Given the description of an element on the screen output the (x, y) to click on. 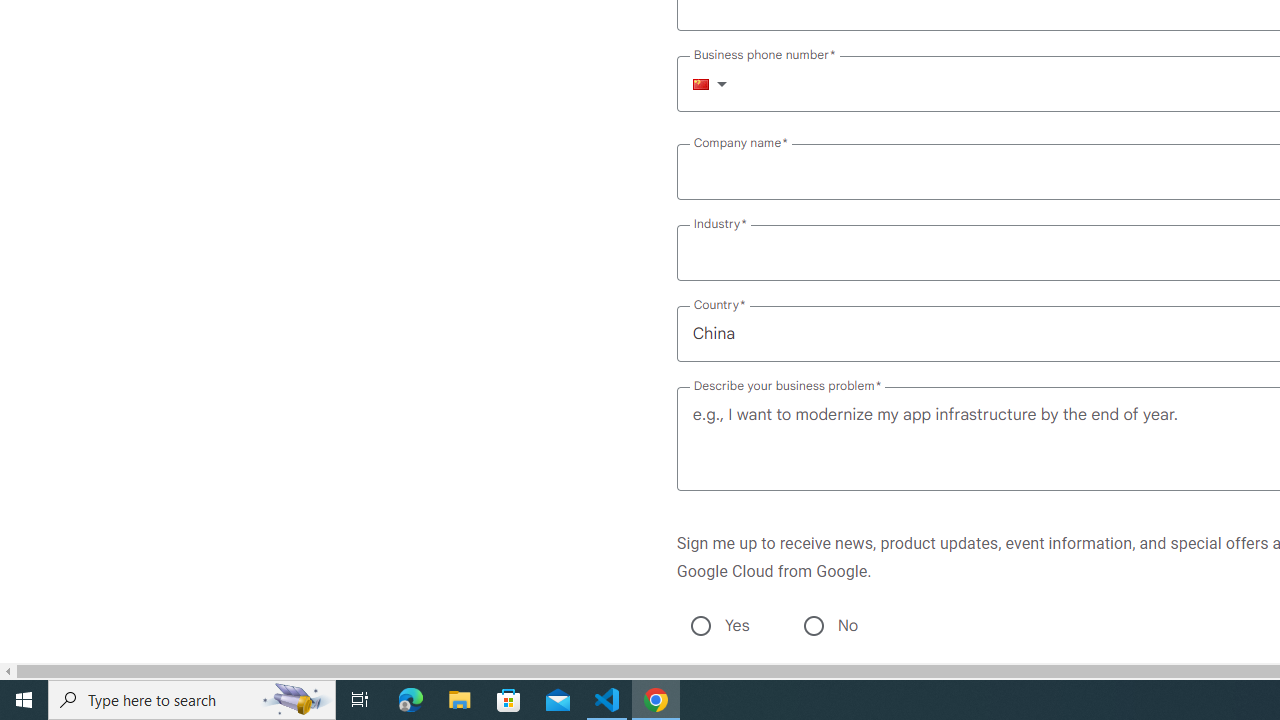
No (813, 625)
Yes (699, 625)
